Given the description of an element on the screen output the (x, y) to click on. 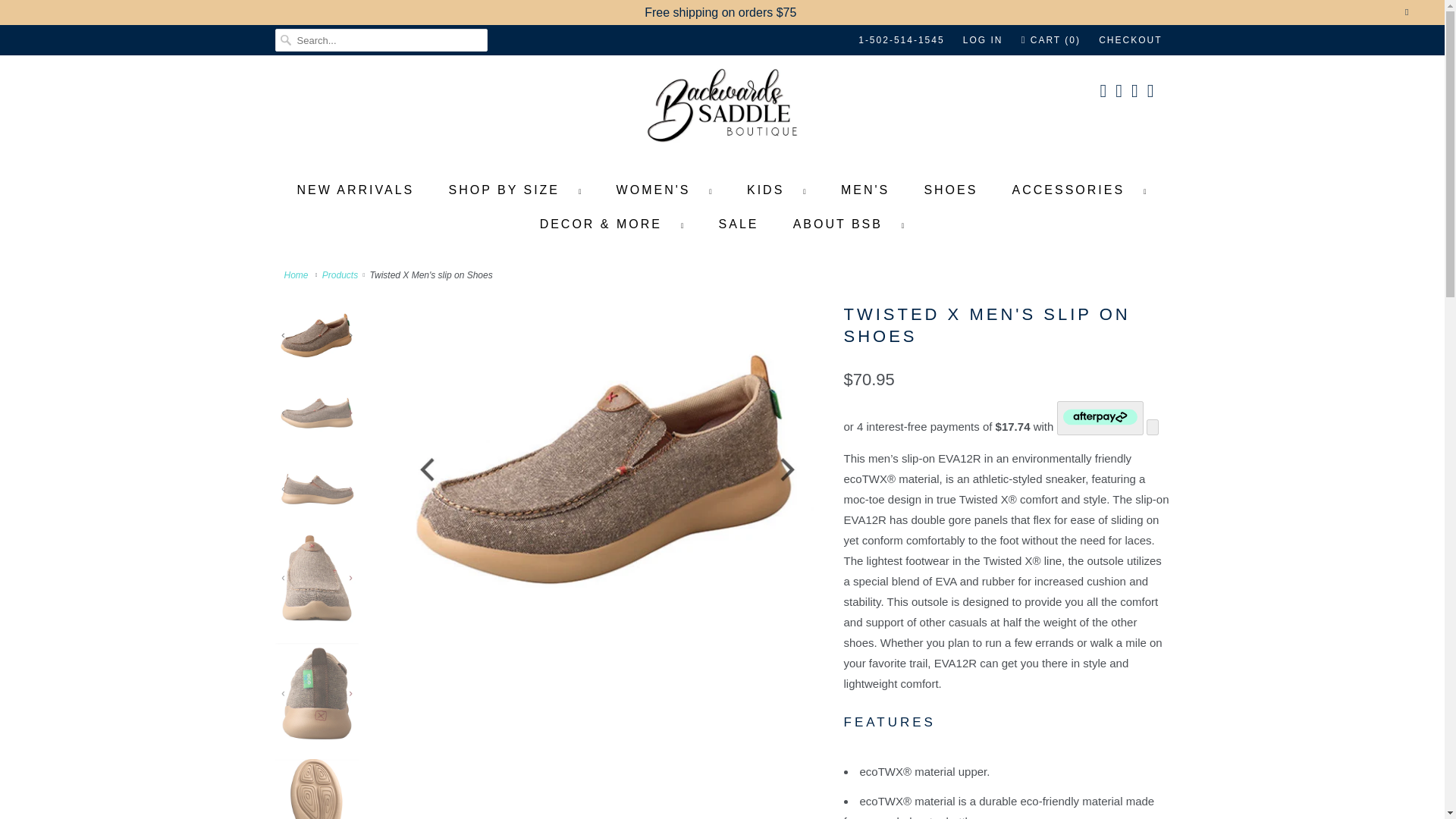
Backwards Saddle Boutique (721, 111)
1-502-514-1545 (901, 39)
LOG IN (982, 39)
Products (339, 275)
Backwards Saddle Boutique (296, 275)
CHECKOUT (1130, 39)
